Given the description of an element on the screen output the (x, y) to click on. 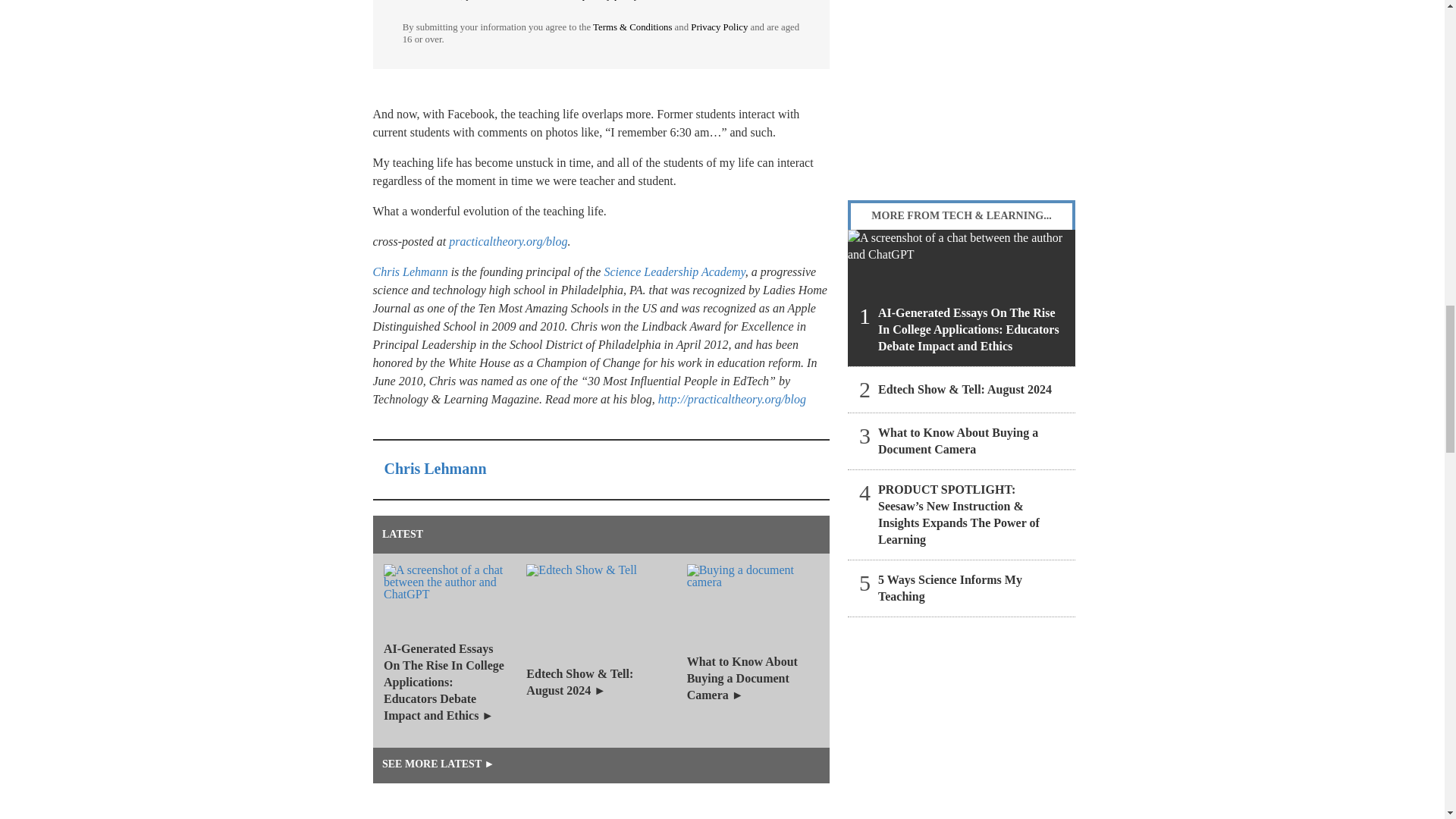
Privacy Policy (719, 27)
